Given the description of an element on the screen output the (x, y) to click on. 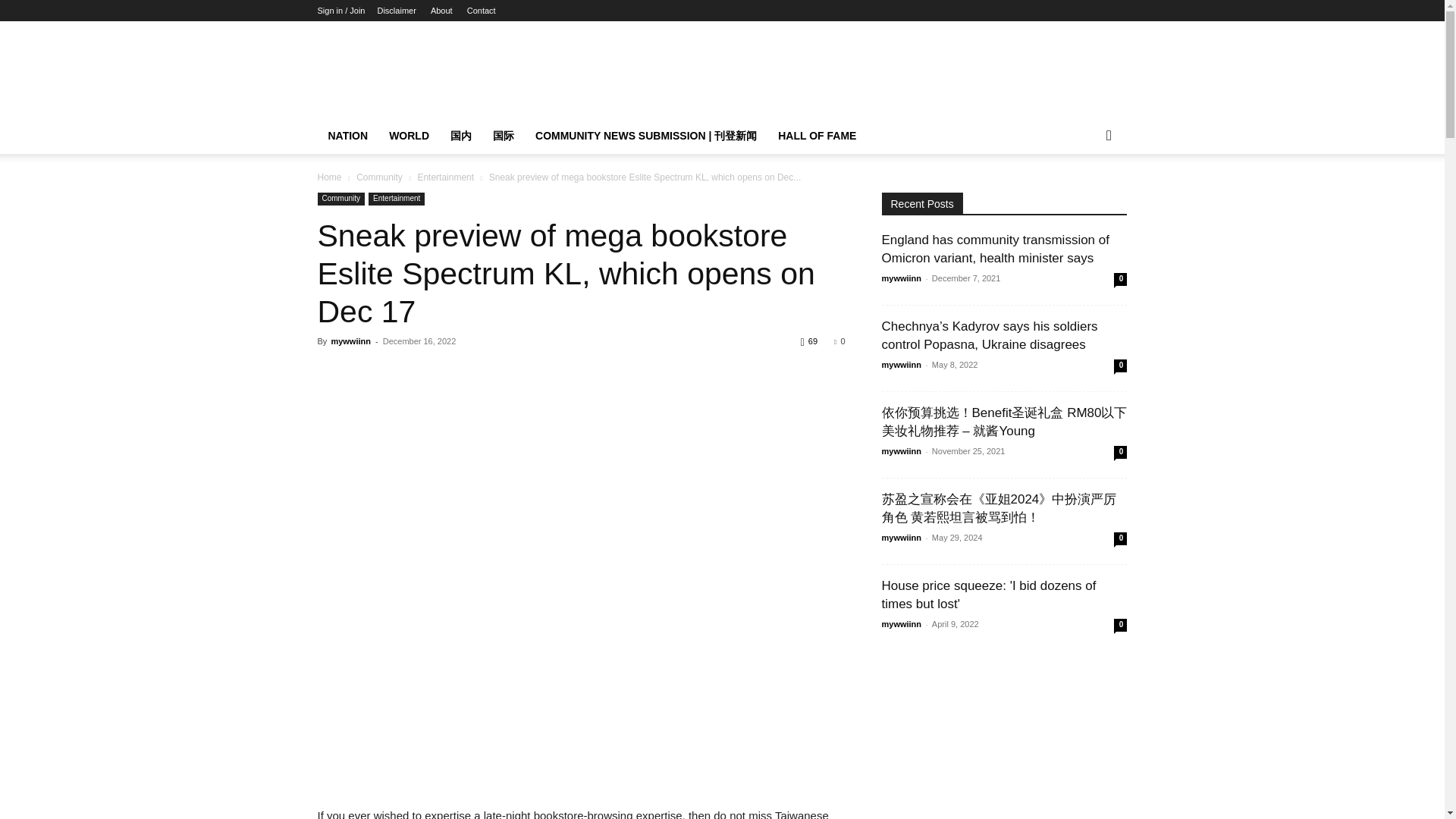
Contact (481, 10)
About (441, 10)
Disclaimer (395, 10)
NATION (347, 135)
WORLD (408, 135)
